Given the description of an element on the screen output the (x, y) to click on. 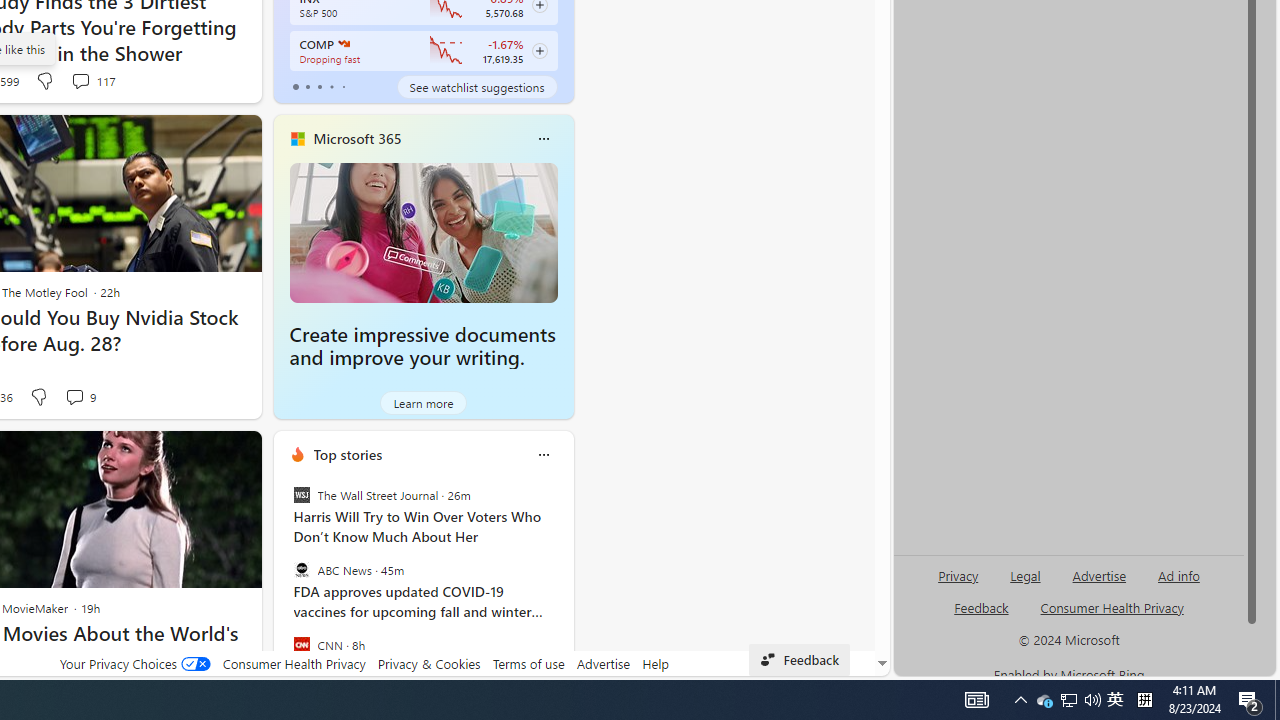
Class: follow-button  m (539, 51)
tab-3 (331, 86)
Top stories (347, 454)
View comments 9 Comment (79, 397)
tab-2 (319, 86)
Create impressive documents and improve your writing. (423, 232)
Hide this story (201, 454)
